Given the description of an element on the screen output the (x, y) to click on. 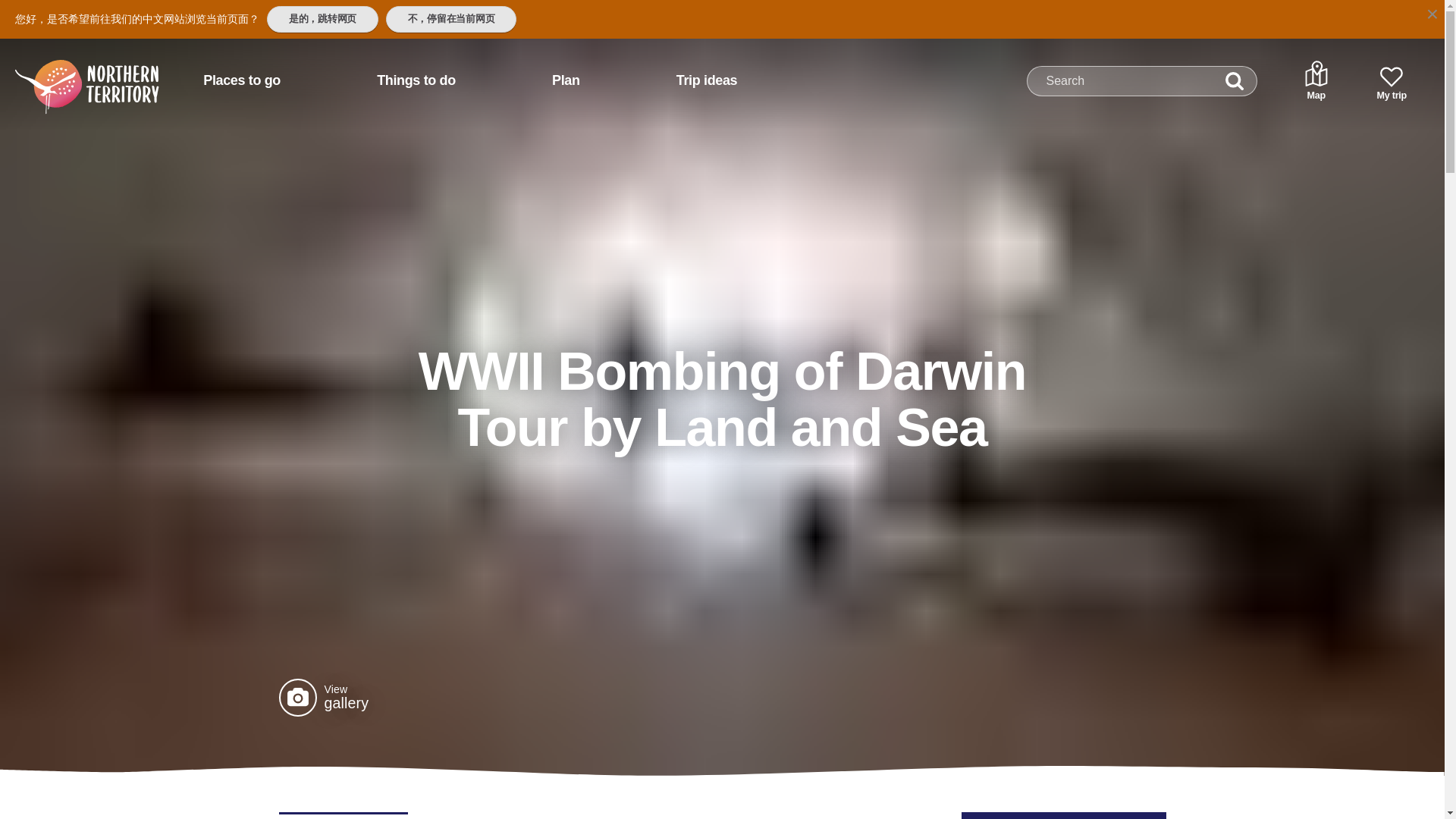
Home (67, 73)
Things to do (416, 80)
Plan (566, 80)
Places to go (241, 80)
Search (1234, 81)
